Given the description of an element on the screen output the (x, y) to click on. 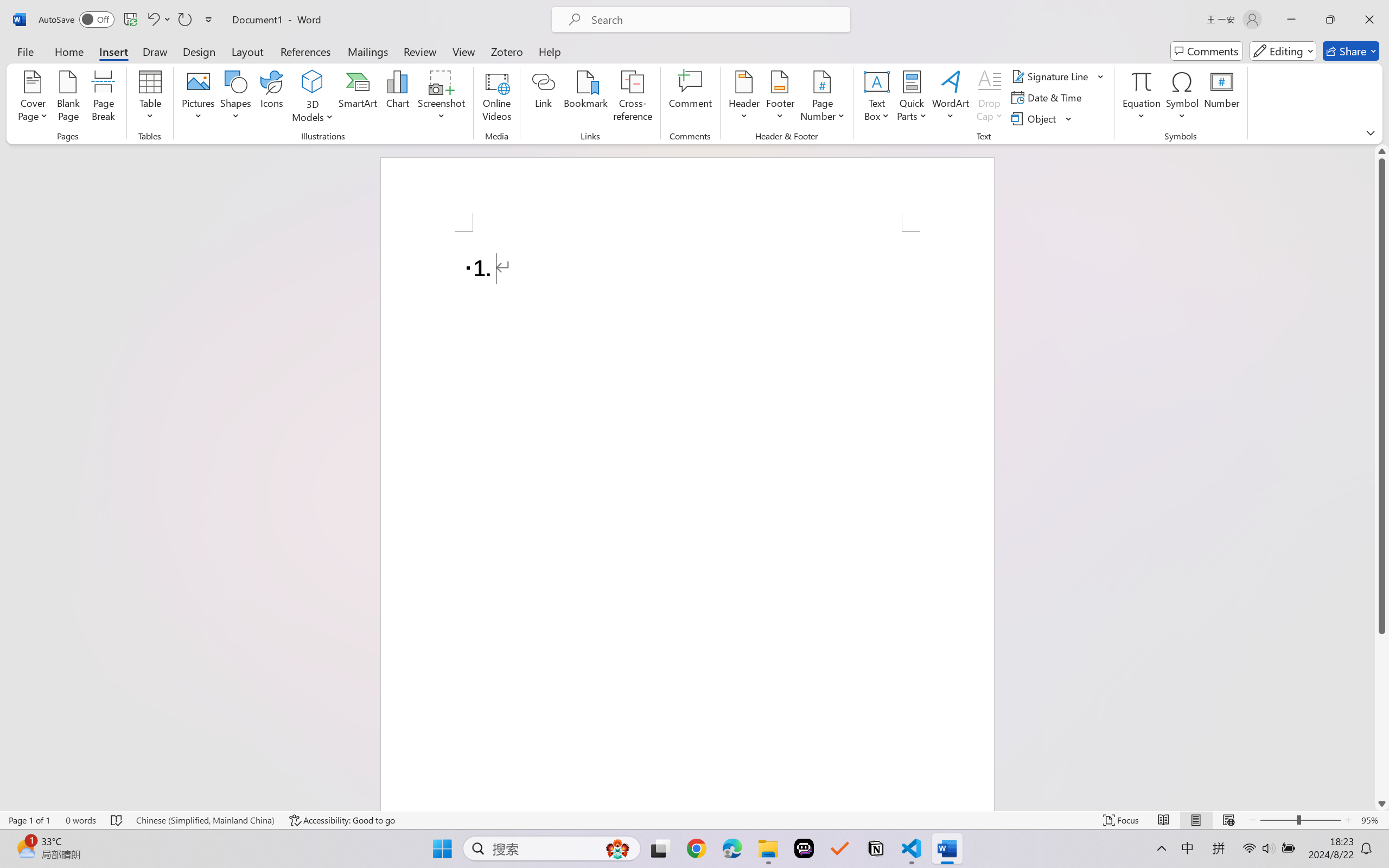
Page Break (103, 97)
Cross-reference... (632, 97)
Comment (689, 97)
Page down (1382, 715)
Table (149, 97)
Page Number (822, 97)
Header (743, 97)
Drop Cap (989, 97)
Symbol (1181, 97)
Line down (1382, 803)
3D Models (312, 97)
Icons (271, 97)
